Given the description of an element on the screen output the (x, y) to click on. 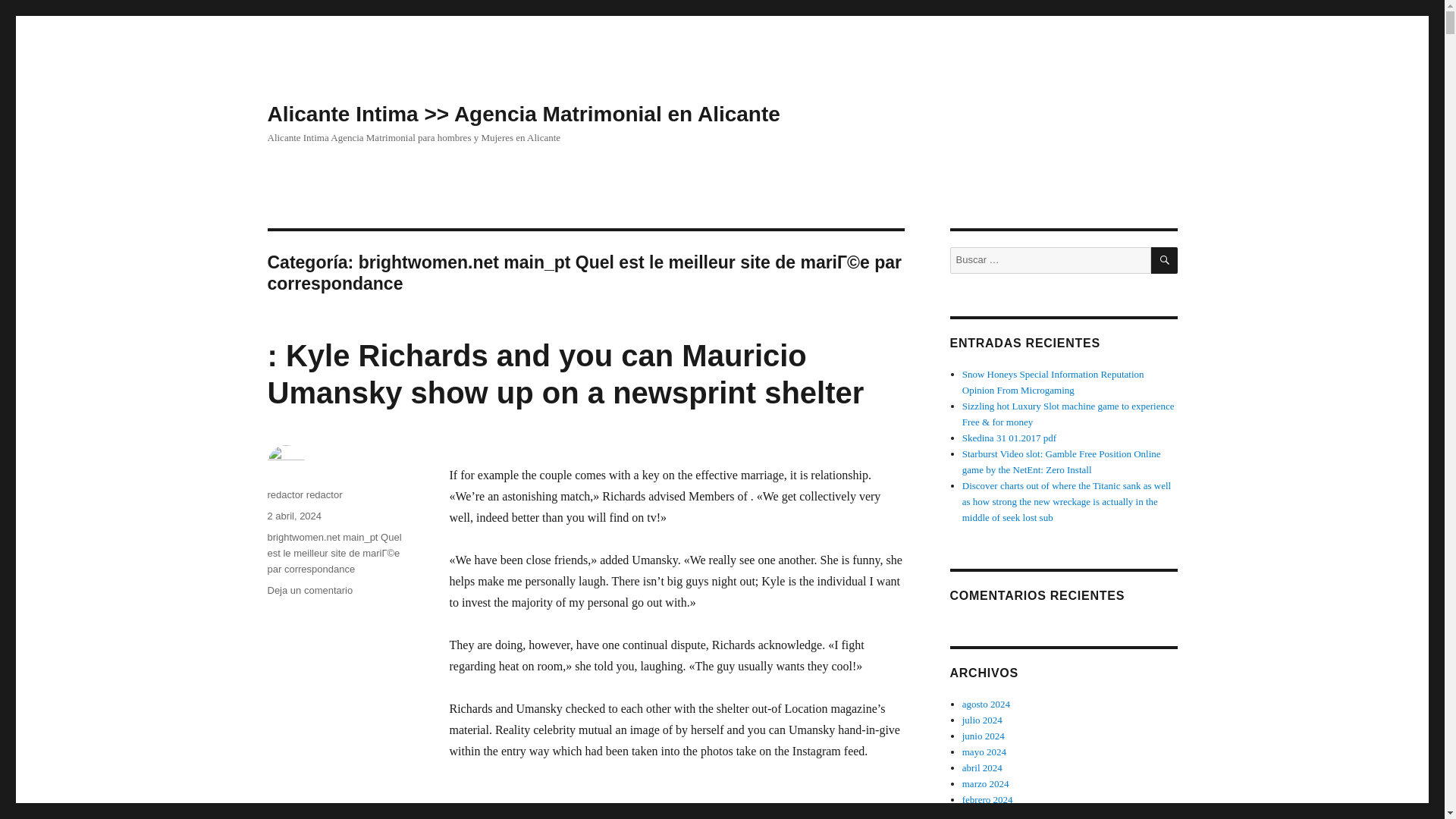
BUSCAR (1164, 260)
redactor redactor (304, 494)
febrero 2024 (987, 799)
enero 2024 (984, 814)
abril 2024 (982, 767)
agosto 2024 (986, 704)
julio 2024 (982, 719)
